Given the description of an element on the screen output the (x, y) to click on. 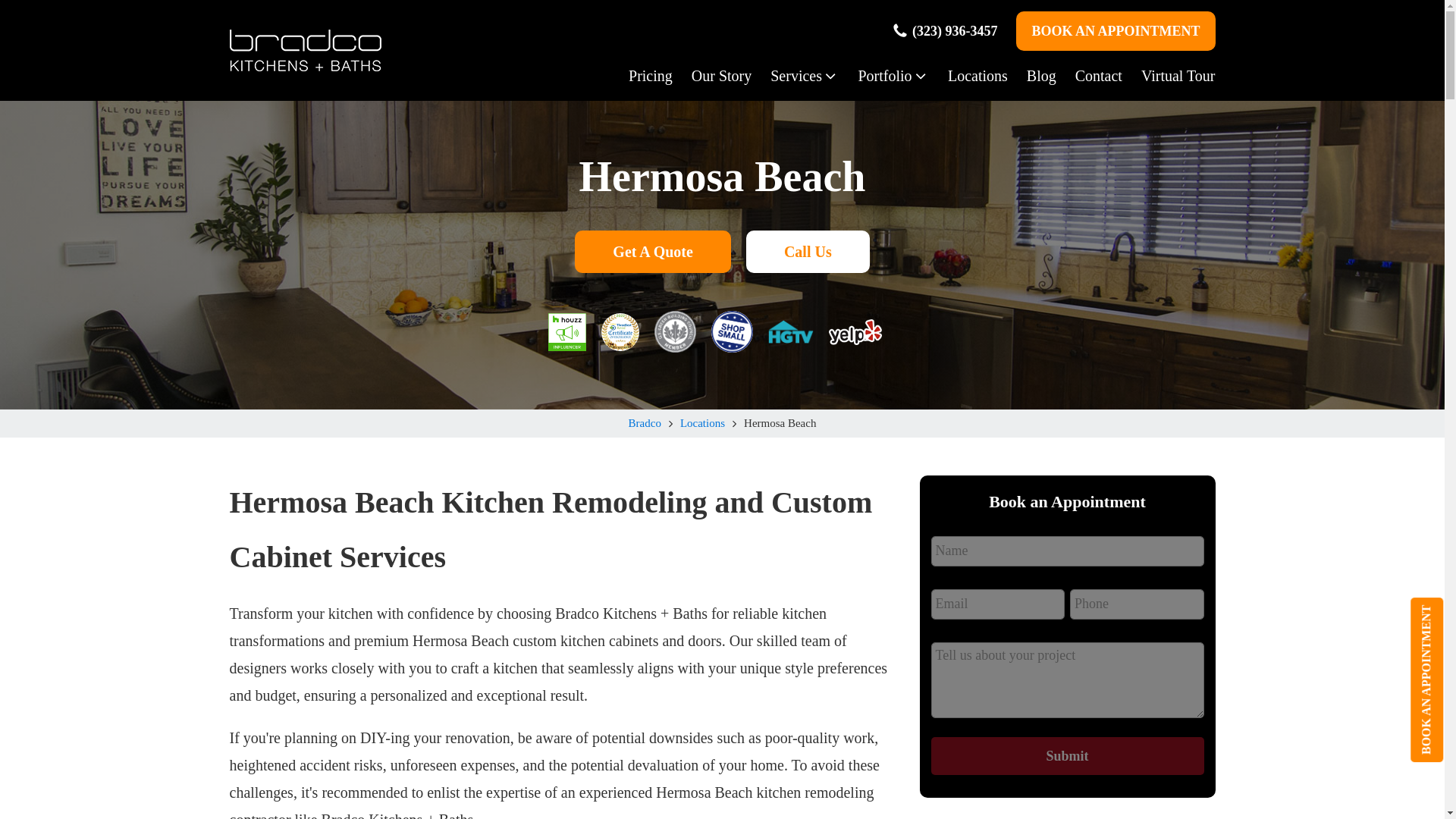
Locations (702, 423)
Virtual Tour (1168, 75)
Contact (1089, 75)
BOOK AN APPOINTMENT (1115, 30)
Call Us (807, 251)
Services (794, 75)
Blog (1032, 75)
Pricing (641, 75)
Portfolio (883, 75)
Get A Quote (652, 251)
